Given the description of an element on the screen output the (x, y) to click on. 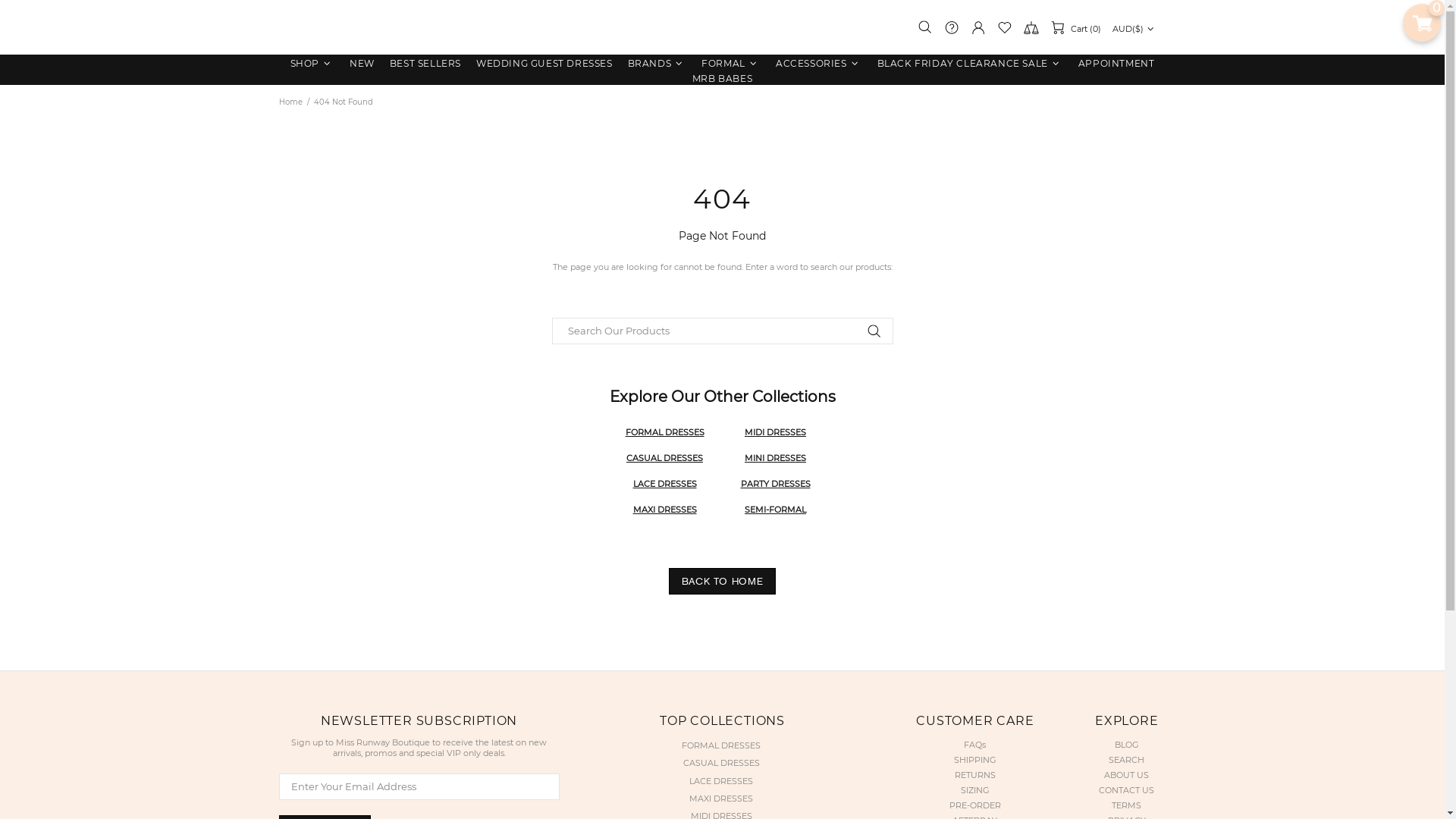
Cart (0) Element type: text (1074, 27)
MINI DRESSES Element type: text (775, 457)
LACE DRESSES Element type: text (664, 483)
MRB BABES Element type: text (721, 78)
LACE DRESSES Element type: text (721, 781)
WEDDING GUEST DRESSES Element type: text (544, 63)
FORMAL DRESSES  Element type: text (721, 745)
SHIPPING Element type: text (974, 759)
BACK TO HOME Element type: text (722, 580)
CONTACT US Element type: text (1126, 789)
BLOG Element type: text (1126, 744)
PRE-ORDER Element type: text (975, 805)
CASUAL DRESSES  Element type: text (721, 763)
BEST SELLERS Element type: text (425, 63)
CASUAL DRESSES Element type: text (664, 457)
Miss Runway Boutique Element type: text (721, 27)
RETURNS Element type: text (974, 774)
BRANDS Element type: text (657, 63)
FORMAL Element type: text (730, 63)
BLACK FRIDAY CLEARANCE SALE Element type: text (969, 63)
MAXI DRESSES Element type: text (721, 798)
FORMAL DRESSES Element type: text (663, 431)
ACCESSORIES Element type: text (818, 63)
TERMS Element type: text (1126, 805)
PARTY DRESSES Element type: text (775, 483)
APPOINTMENT Element type: text (1116, 63)
MIDI DRESSES  Element type: text (721, 816)
FAQs Element type: text (974, 744)
NEW Element type: text (362, 63)
SEMI-FORMAL Element type: text (775, 509)
Home Element type: text (290, 102)
ABOUT US Element type: text (1126, 774)
SIZING Element type: text (974, 789)
MAXI DRESSES Element type: text (664, 509)
SEARCH Element type: text (1126, 759)
MIDI DRESSES Element type: text (775, 431)
0 Element type: text (1421, 22)
SHOP Element type: text (312, 63)
